Given the description of an element on the screen output the (x, y) to click on. 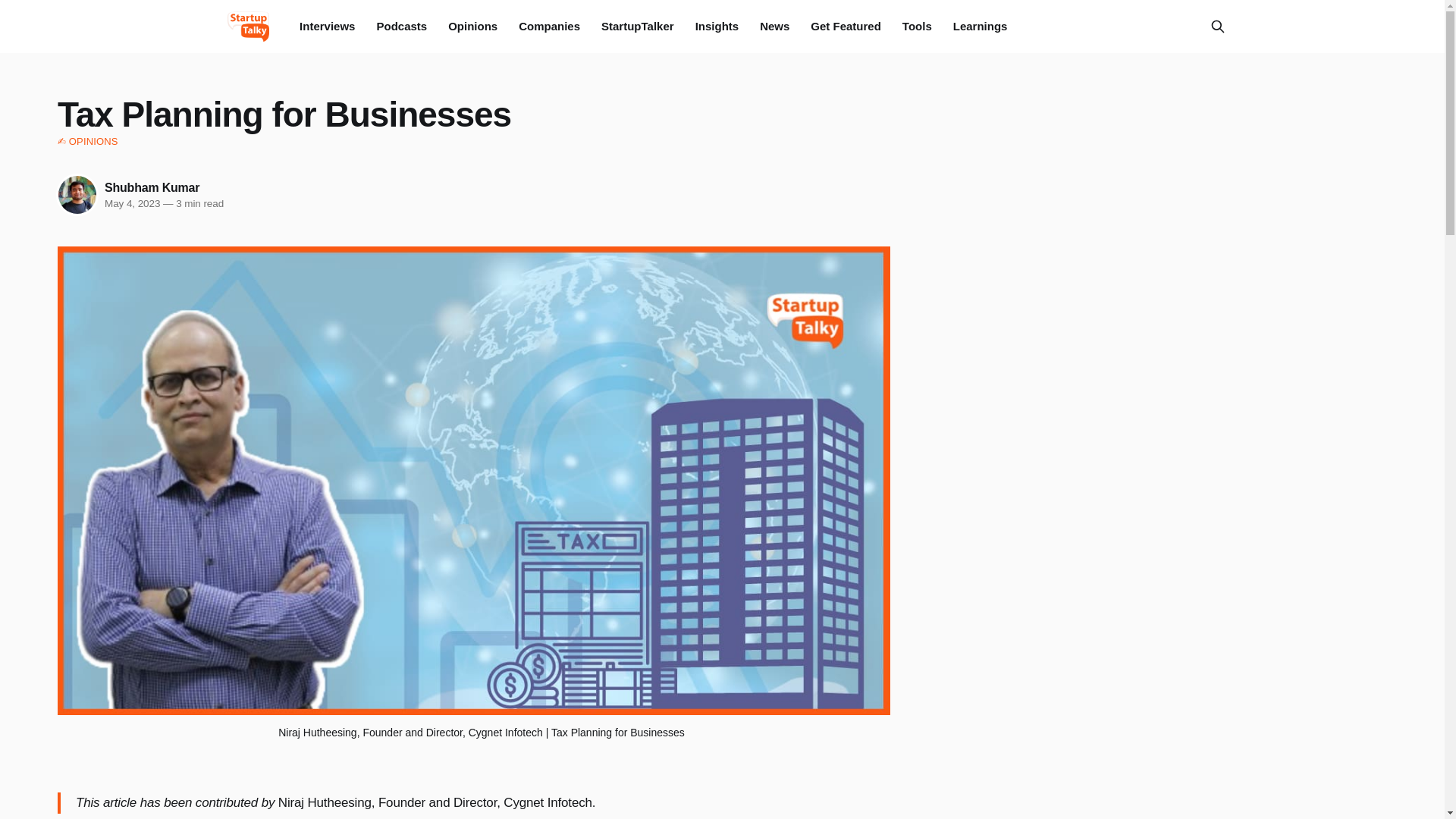
News (774, 25)
StartupTalker (637, 25)
Shubham Kumar (151, 187)
Companies (548, 25)
Podcasts (400, 25)
Insights (717, 25)
Get Featured (845, 25)
Interviews (327, 25)
Opinions (472, 25)
Learnings (980, 25)
Tools (916, 25)
